Given the description of an element on the screen output the (x, y) to click on. 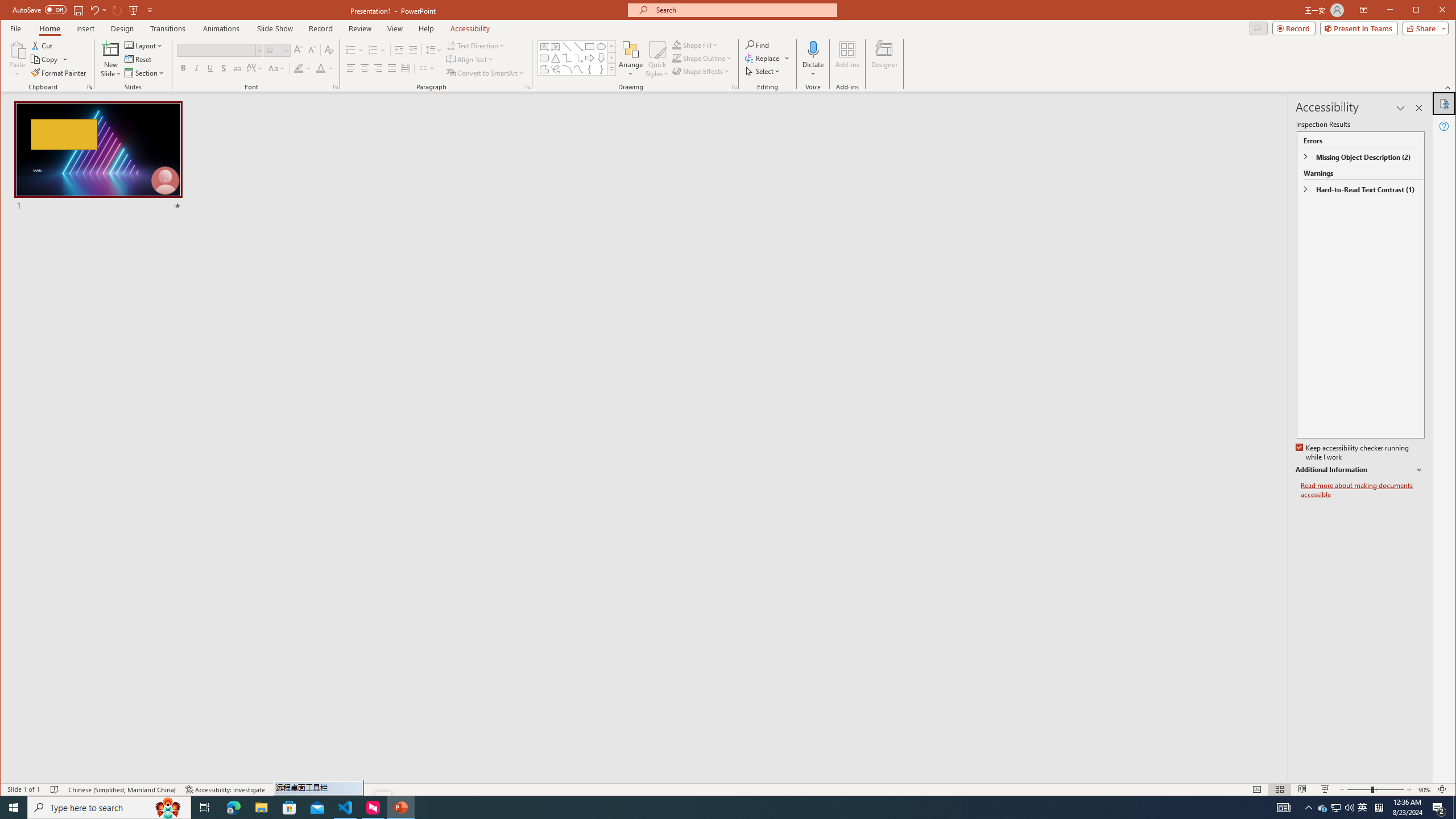
Arrow: Down (601, 57)
Font Color (324, 68)
Right Brace (601, 69)
Rectangle: Rounded Corners (544, 57)
Zoom to Fit  (1441, 789)
Class: MsoCommandBar (728, 789)
Text Highlight Color (302, 68)
Decrease Indent (399, 49)
Line Arrow (577, 46)
New Slide (110, 59)
Transitions (167, 28)
Help (1444, 125)
Center (364, 68)
Undo (94, 9)
